Given the description of an element on the screen output the (x, y) to click on. 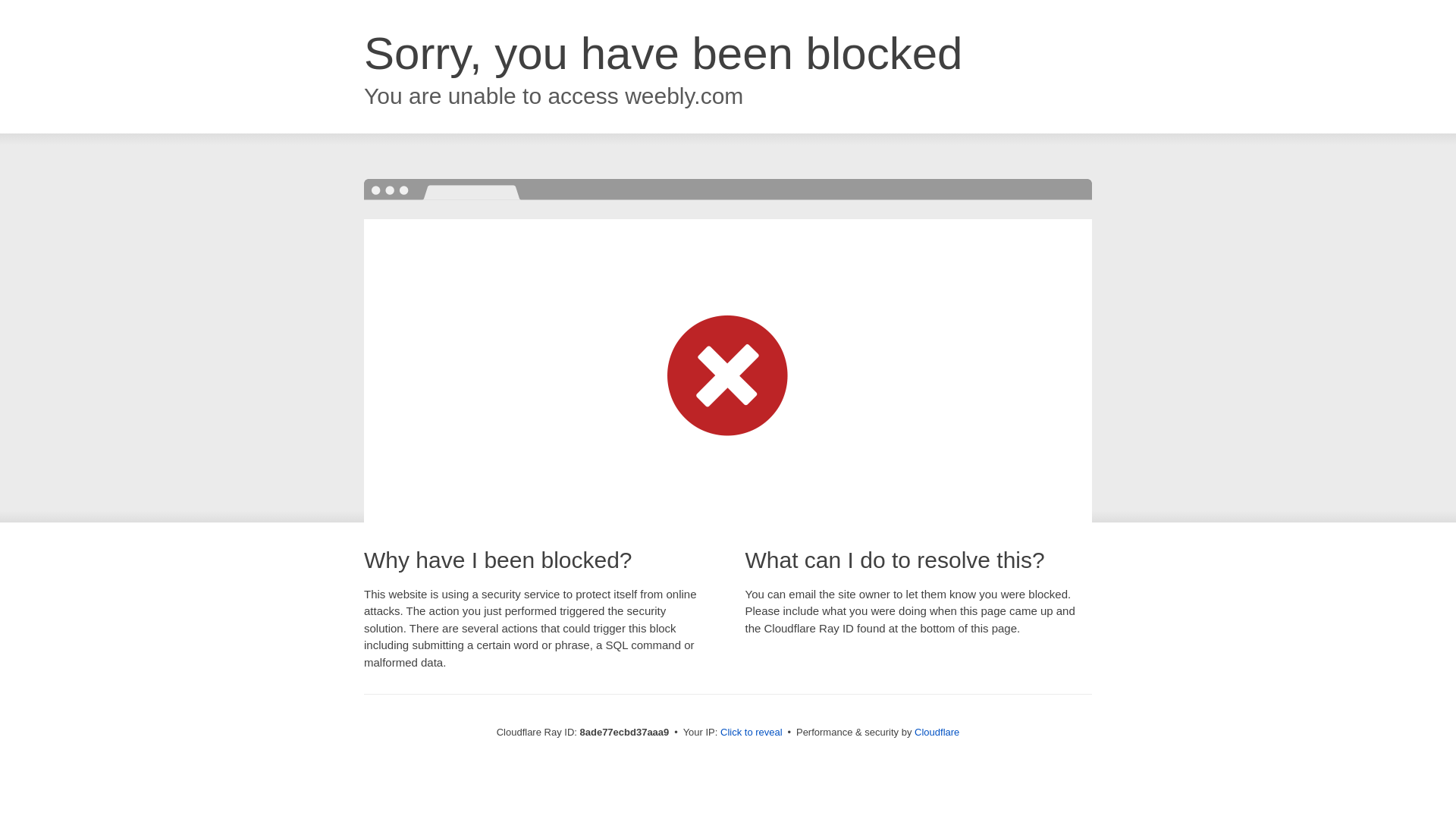
Click to reveal (751, 732)
Cloudflare (936, 731)
